Given the description of an element on the screen output the (x, y) to click on. 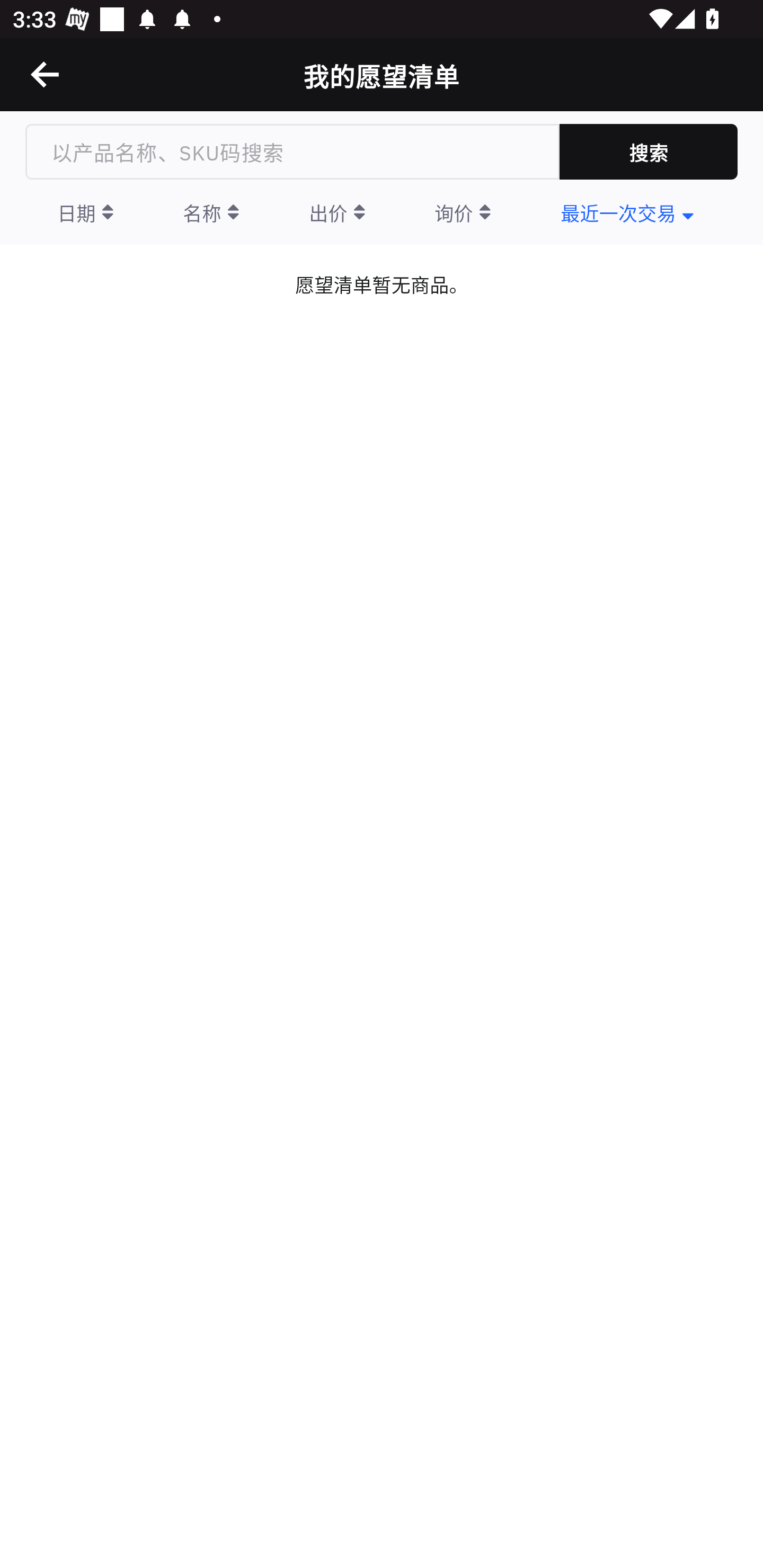
 (46, 74)
以产品名称、SKU码搜索 (292, 151)
搜索 (648, 151)
日期  (85, 212)
名称  (210, 212)
出价  (336, 212)
询价  (462, 212)
最近一次交易  (626, 212)
